Given the description of an element on the screen output the (x, y) to click on. 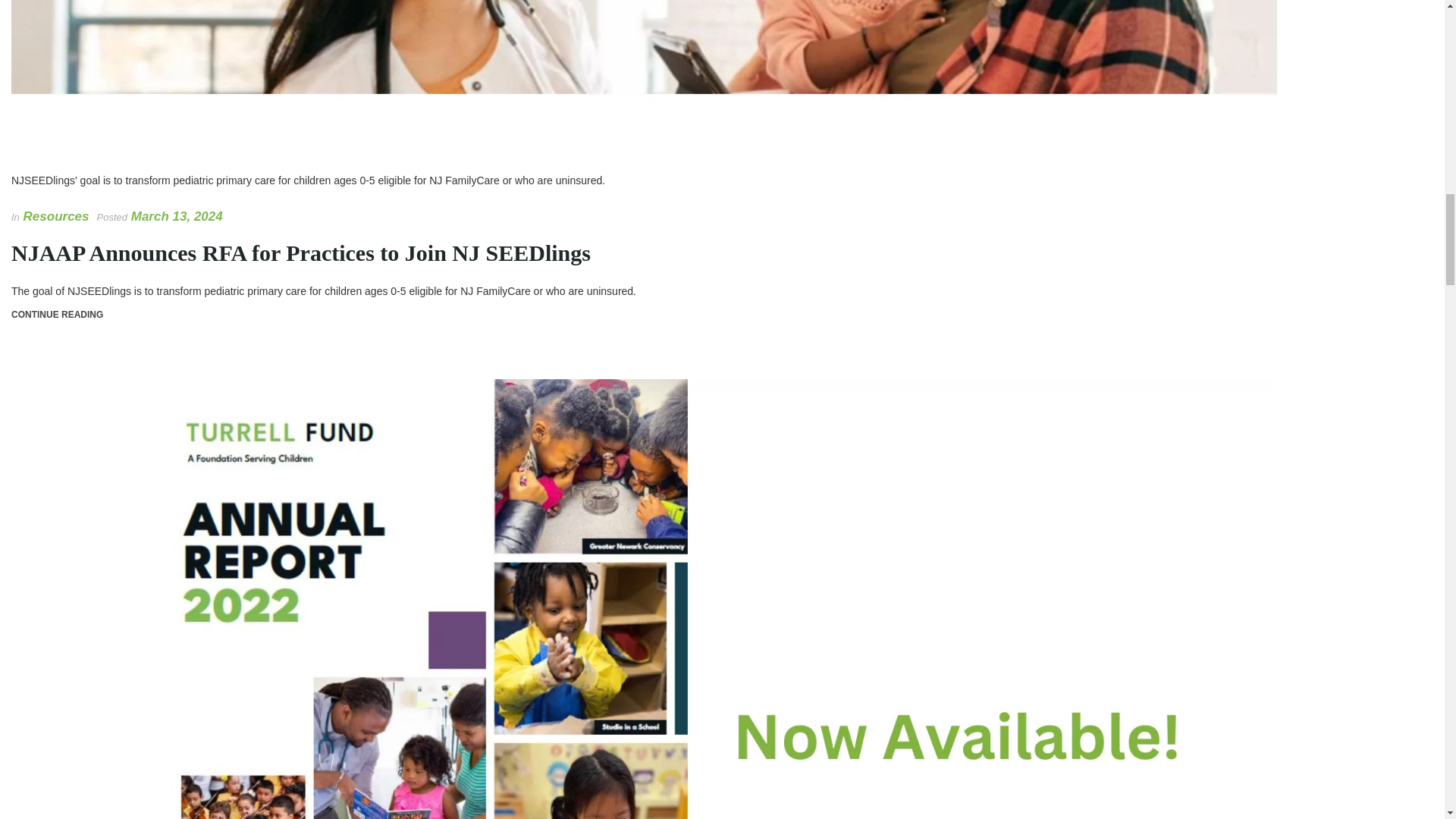
NJAAP Announces RFA for Practices to Join NJ SEEDlings (301, 252)
March 13, 2024 (176, 216)
Resources (55, 216)
CONTINUE READING (57, 314)
